Given the description of an element on the screen output the (x, y) to click on. 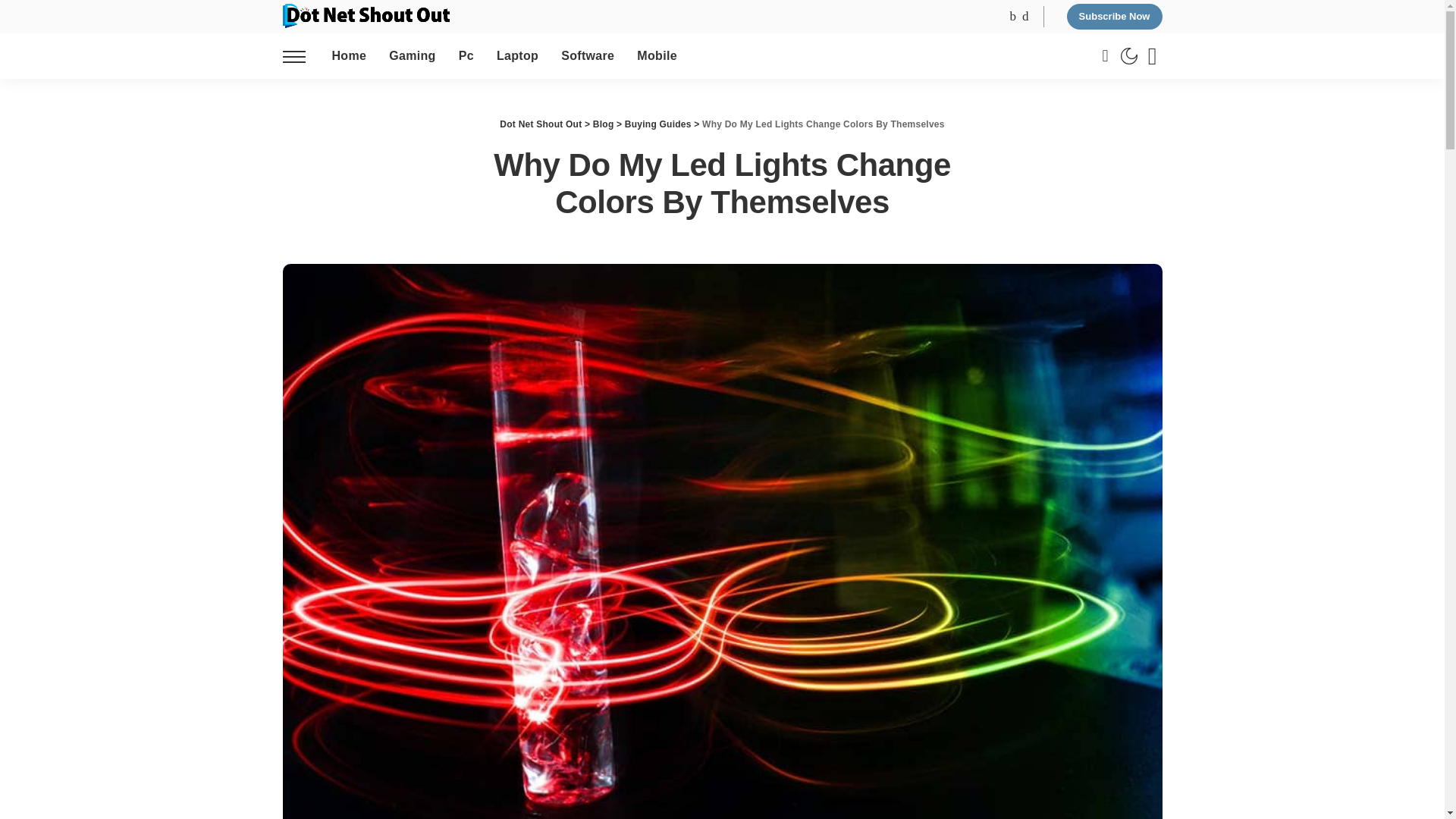
Dot Net Shout Out (365, 15)
